Given the description of an element on the screen output the (x, y) to click on. 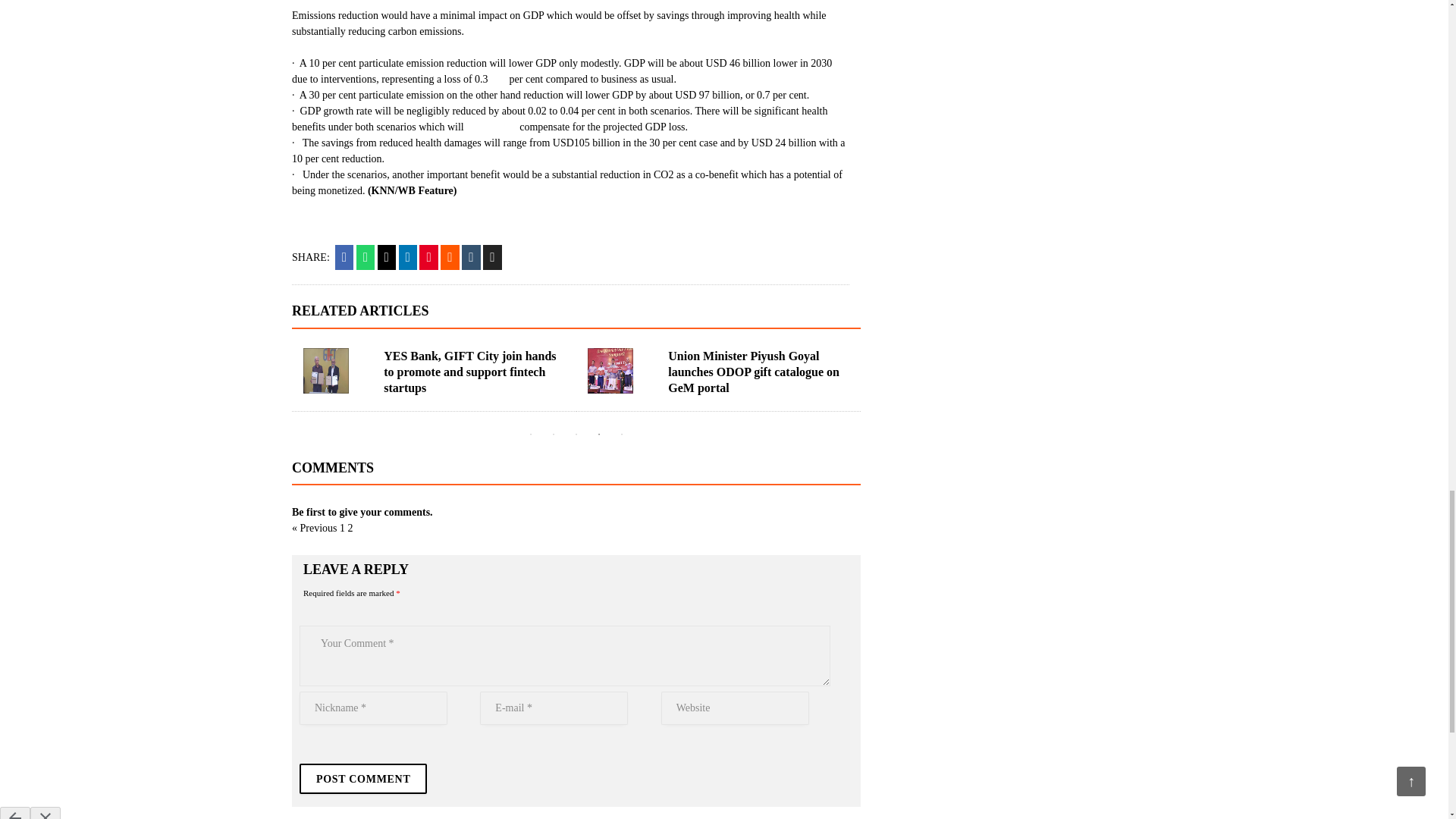
Post Comment (362, 778)
